Given the description of an element on the screen output the (x, y) to click on. 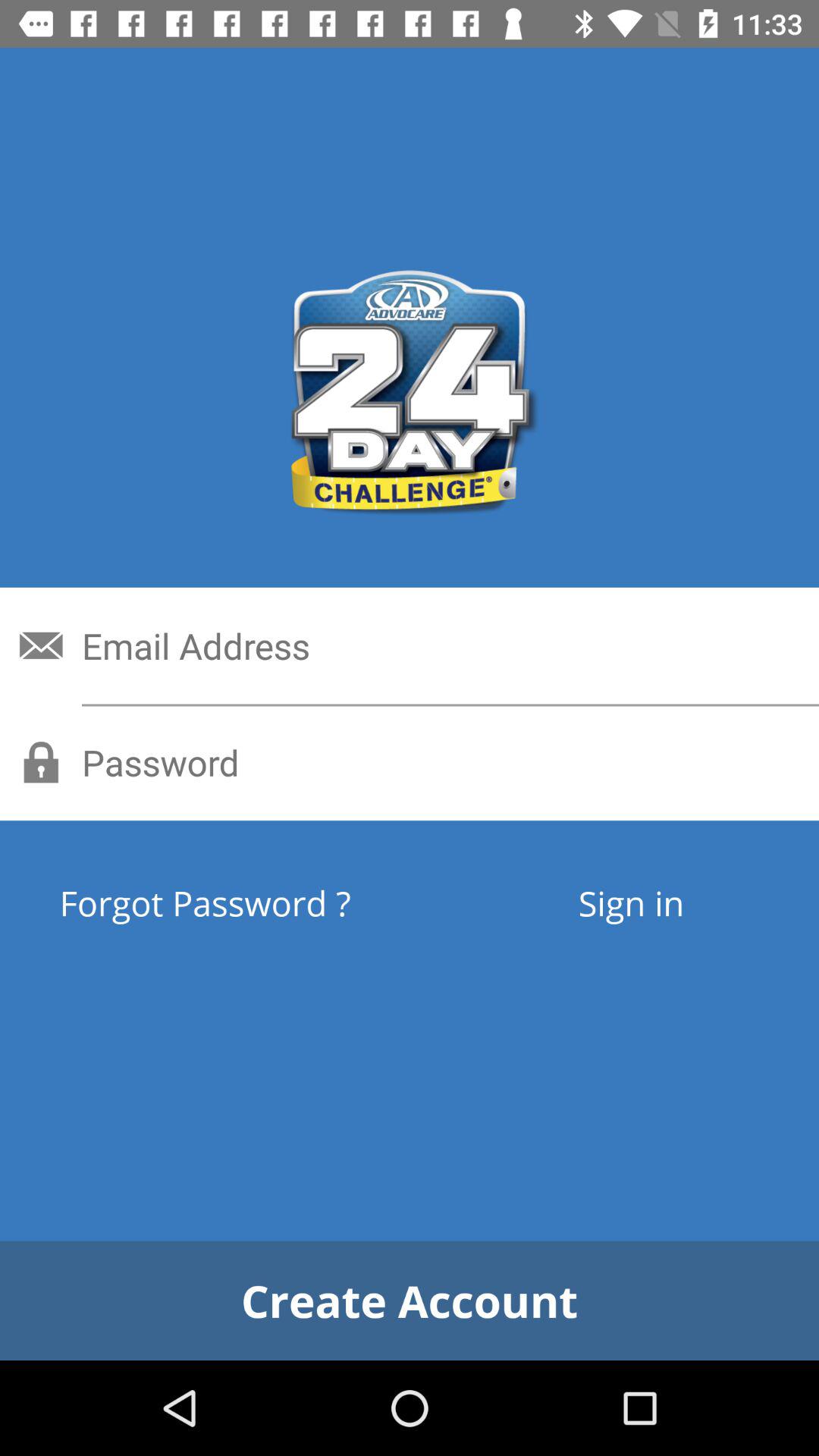
swipe to the forgot password ? item (261, 902)
